Given the description of an element on the screen output the (x, y) to click on. 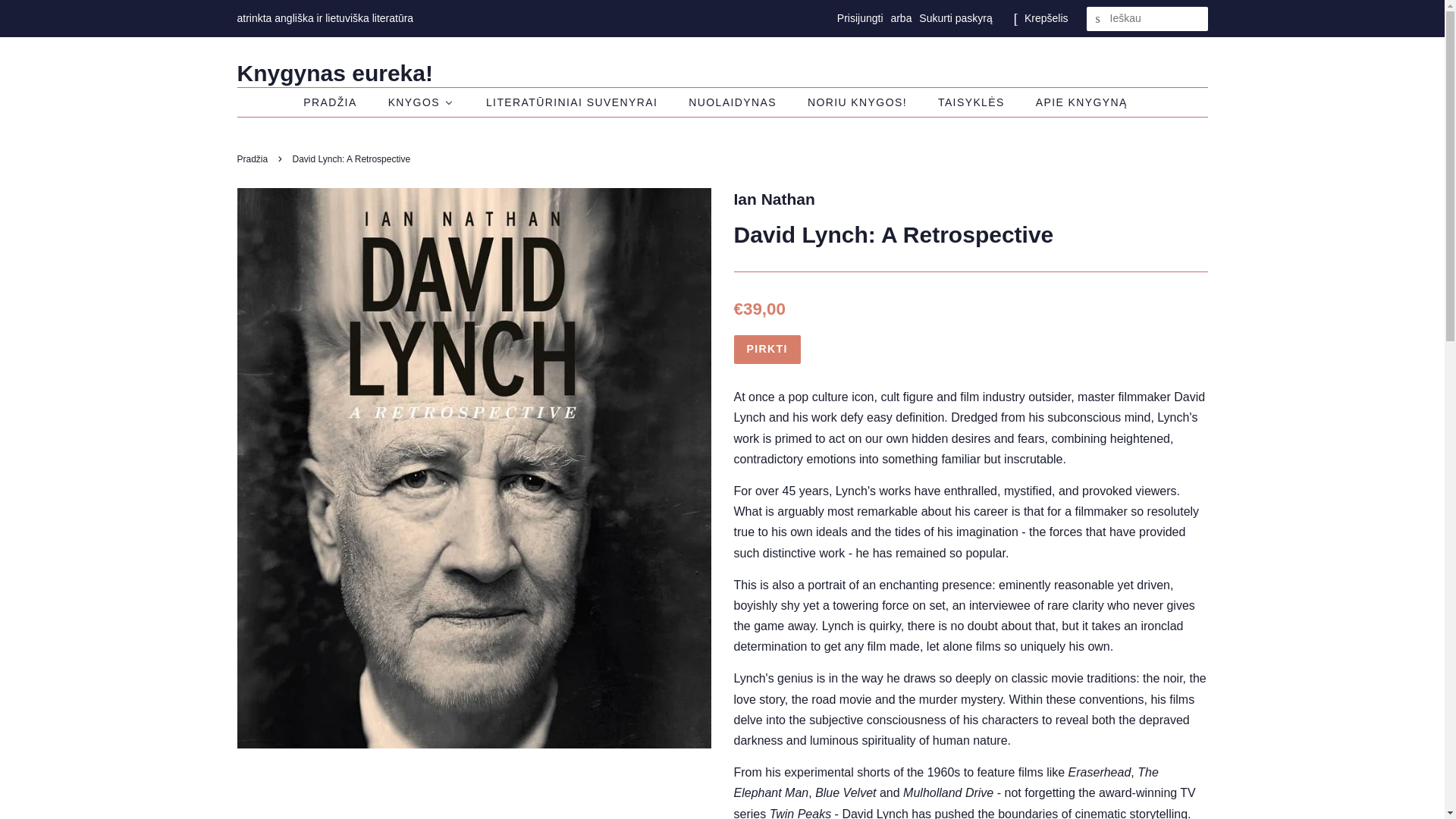
Prisijungti (860, 18)
